Given the description of an element on the screen output the (x, y) to click on. 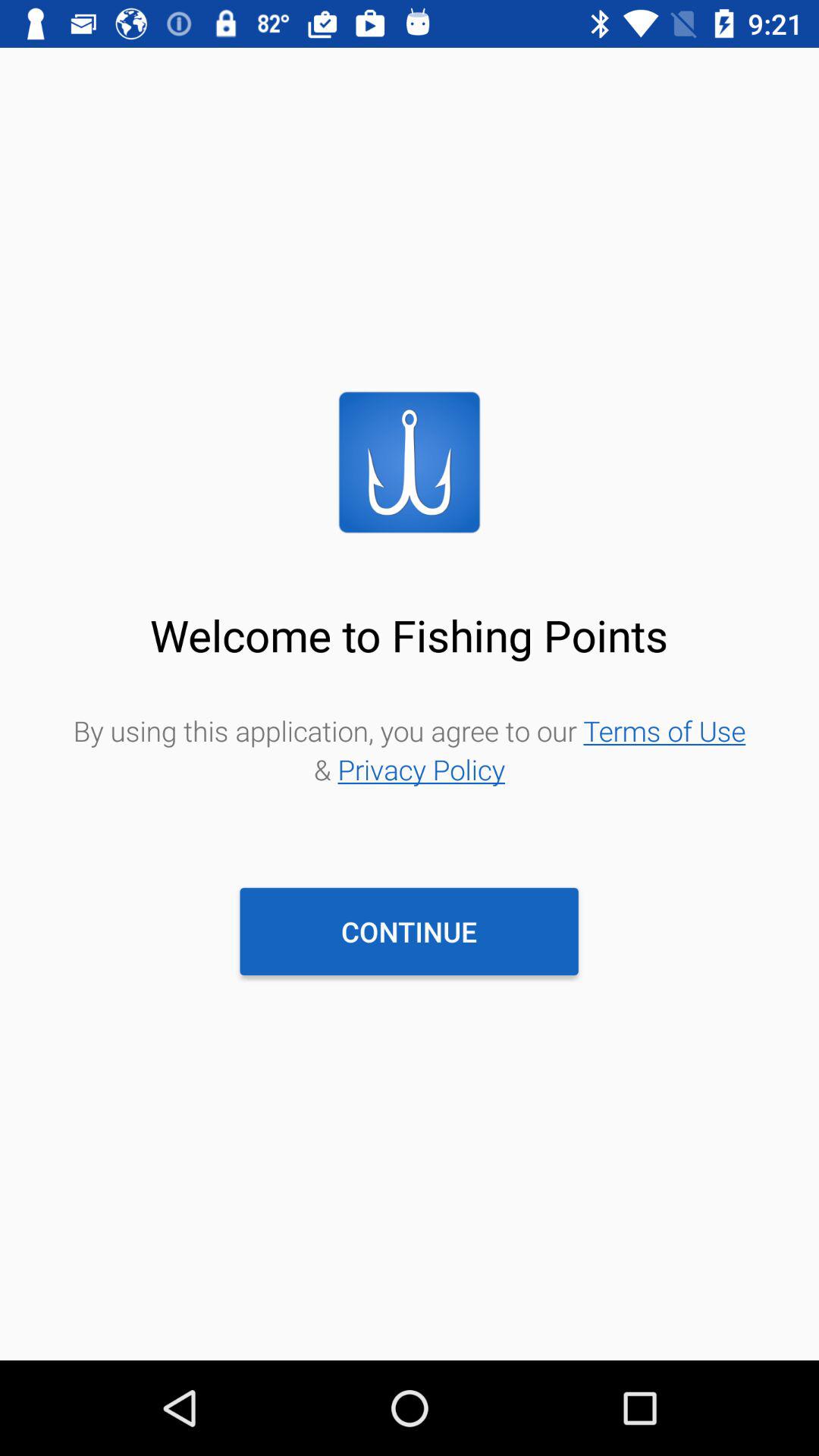
press the by using this (409, 750)
